Given the description of an element on the screen output the (x, y) to click on. 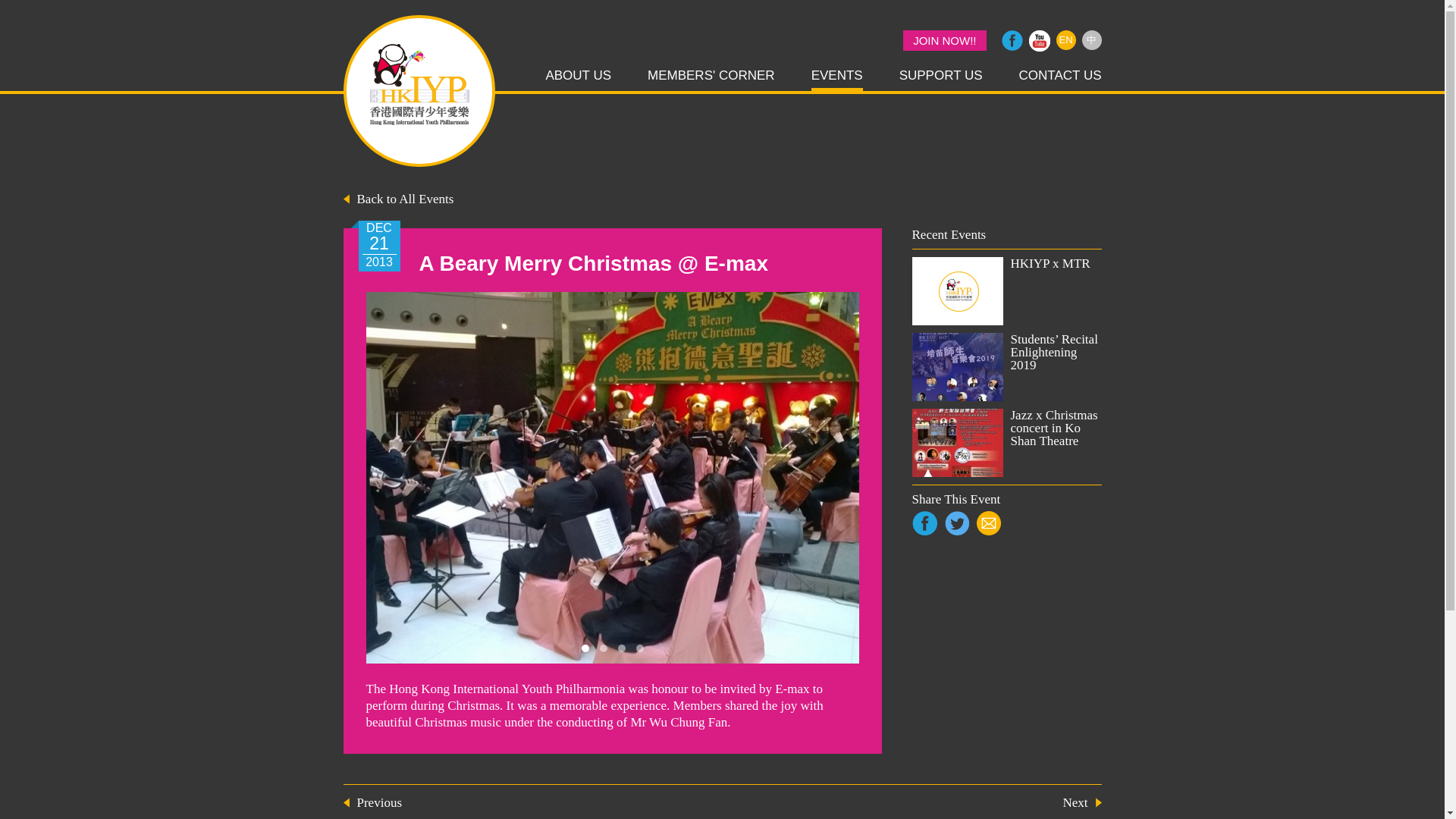
Jazz x Christmas concert in Ko Shan Theatre (1005, 442)
MEMBERS' CORNER (710, 77)
JOIN NOW!! (943, 40)
EVENTS (836, 79)
CONTACT US (1060, 77)
ABOUT US (577, 77)
HKIYP x MTR (1005, 291)
Next (1081, 802)
SUPPORT US (940, 77)
Back to All Events (397, 198)
